Given the description of an element on the screen output the (x, y) to click on. 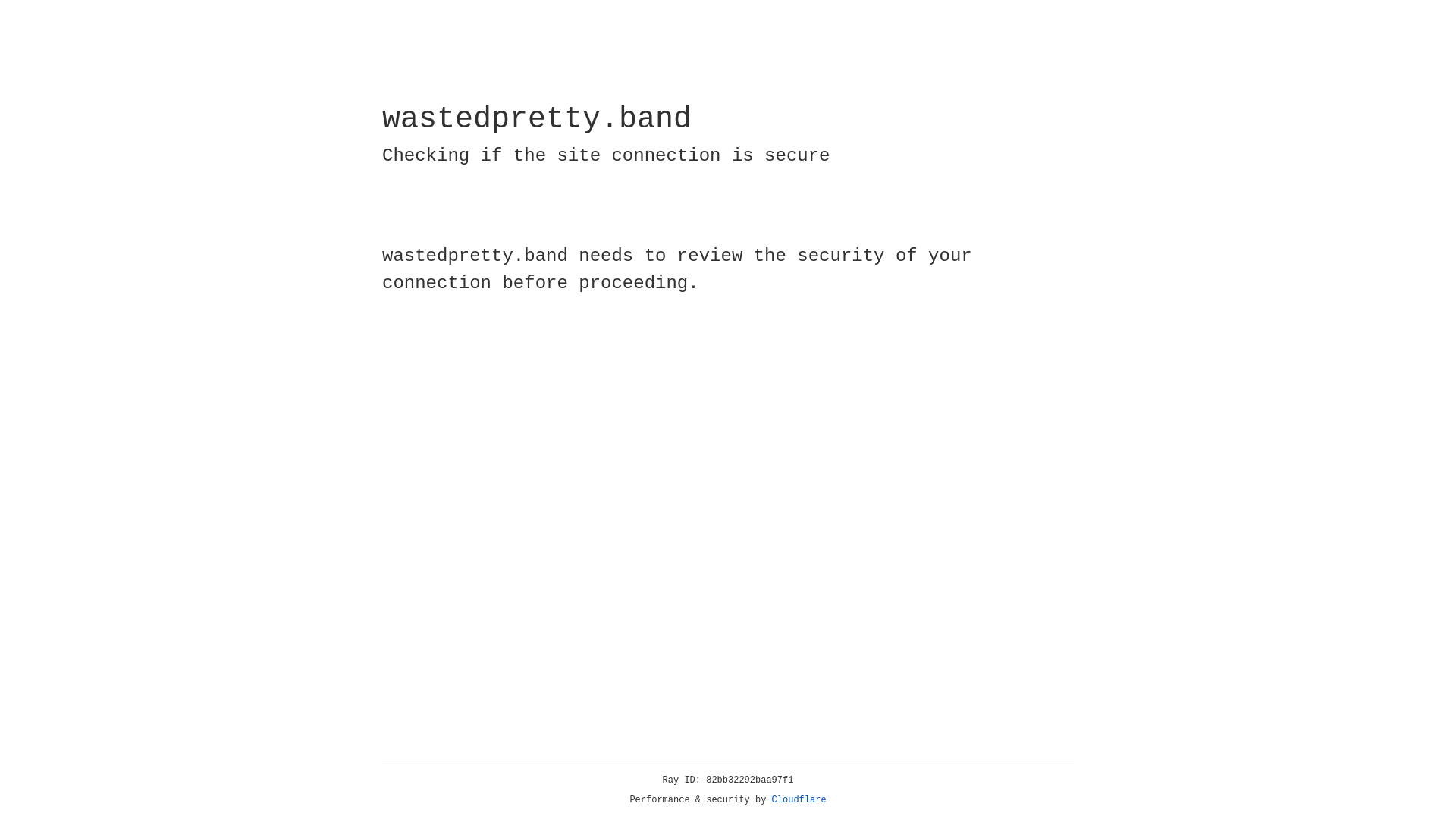
Cloudflare Element type: text (798, 799)
